Given the description of an element on the screen output the (x, y) to click on. 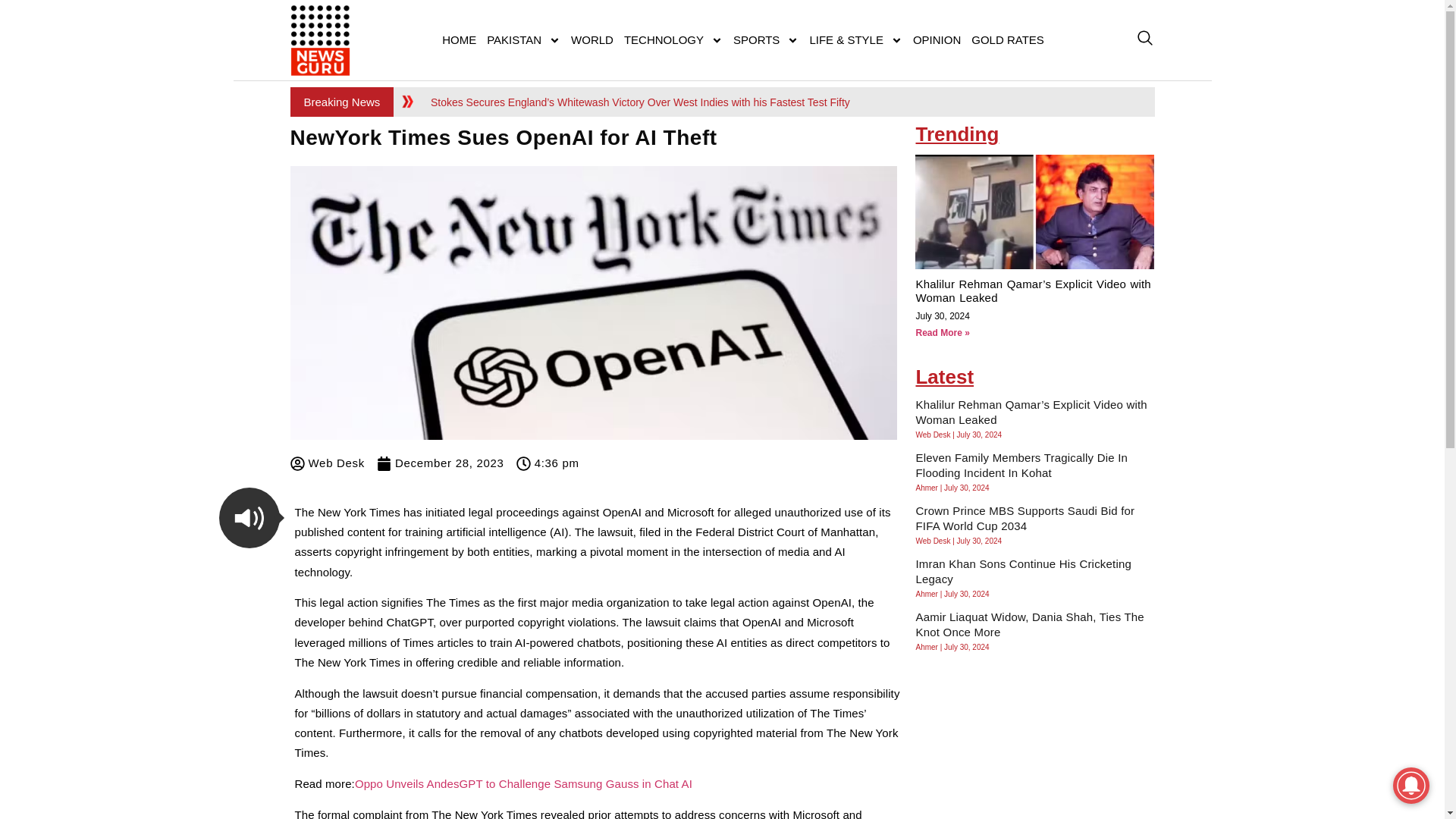
TECHNOLOGY (673, 39)
OPINION (936, 39)
WORLD (592, 39)
PAKISTAN (523, 39)
SPORTS (765, 39)
Read Content (248, 517)
GOLD RATES (1007, 39)
HOME (458, 39)
